Given the description of an element on the screen output the (x, y) to click on. 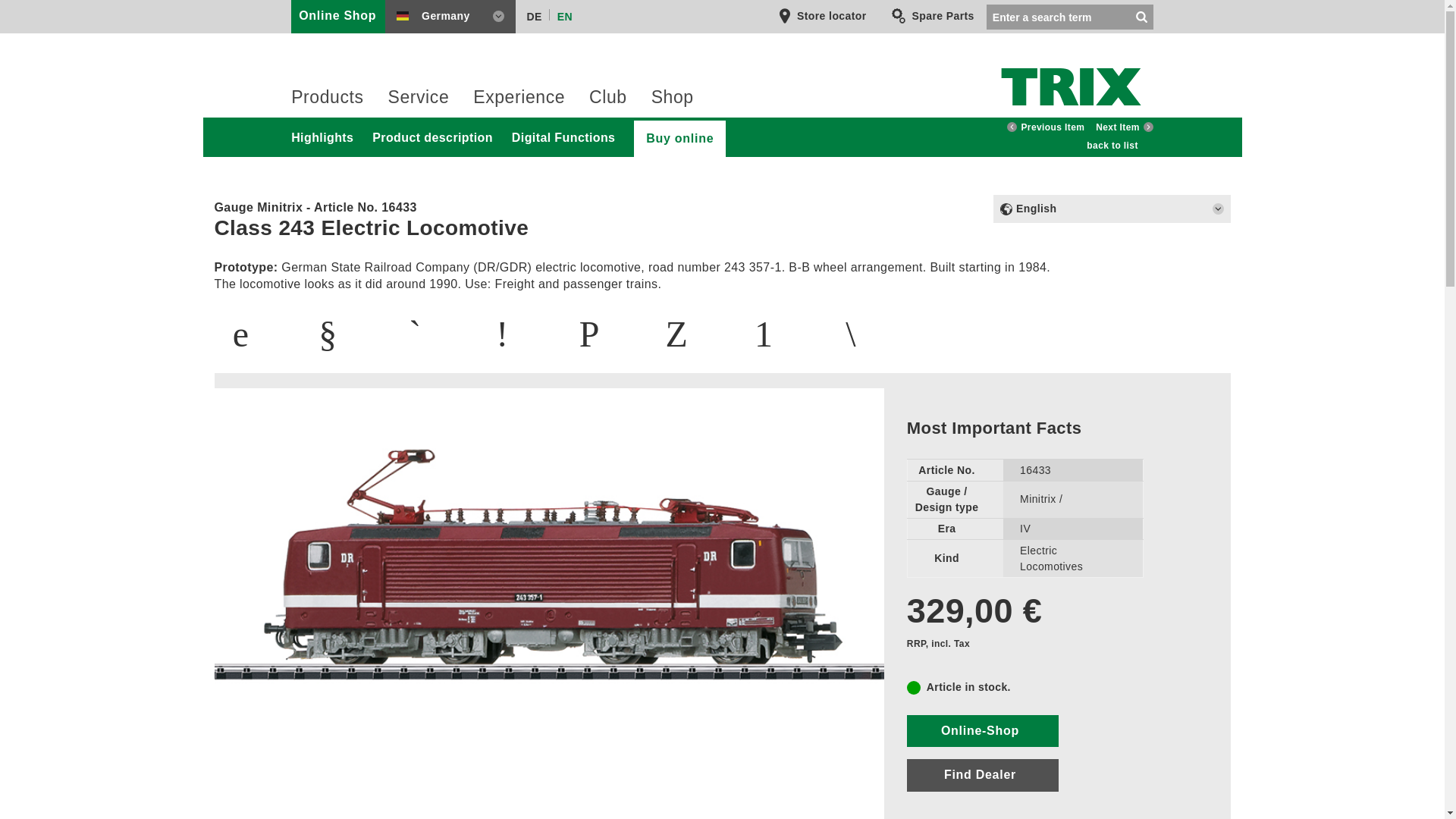
Spare Parts (932, 16)
Online Shop (339, 16)
Products (326, 101)
Store locator (822, 16)
Products (326, 101)
Product description (440, 136)
Digital Functions (571, 136)
Highlights (329, 136)
EN (561, 13)
DE (530, 13)
Zum Shop (339, 16)
